Given the description of an element on the screen output the (x, y) to click on. 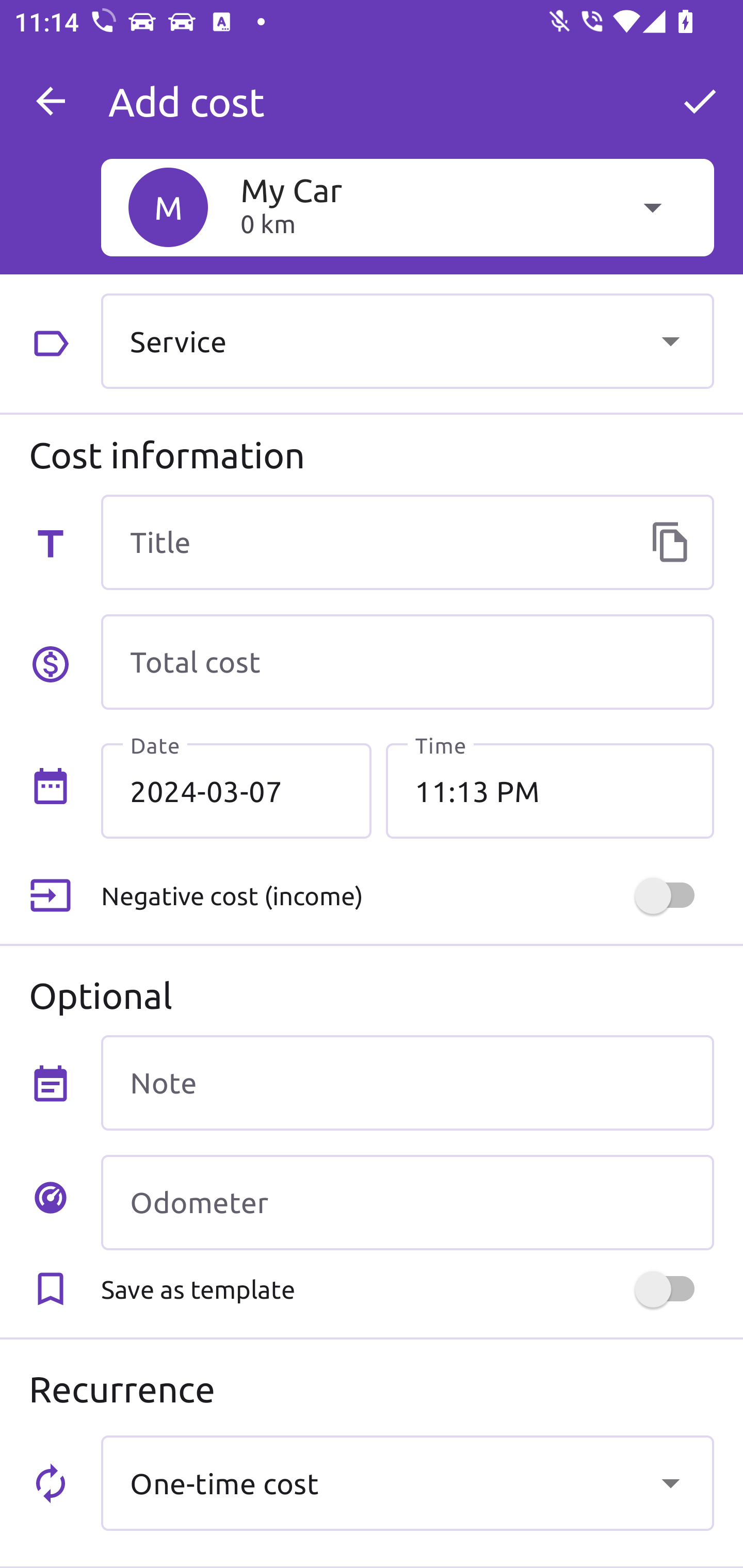
Navigate up (50, 101)
OK (699, 101)
M My Car 0 km (407, 206)
Service (407, 340)
Show dropdown menu (670, 340)
Title (407, 541)
Templates (670, 541)
Total cost  (407, 662)
2024-03-07 (236, 790)
11:13 PM (549, 790)
Negative cost (income) (407, 895)
Note (407, 1082)
Odometer (407, 1202)
Save as template (407, 1289)
One-time cost (407, 1482)
Show dropdown menu (670, 1482)
